Given the description of an element on the screen output the (x, y) to click on. 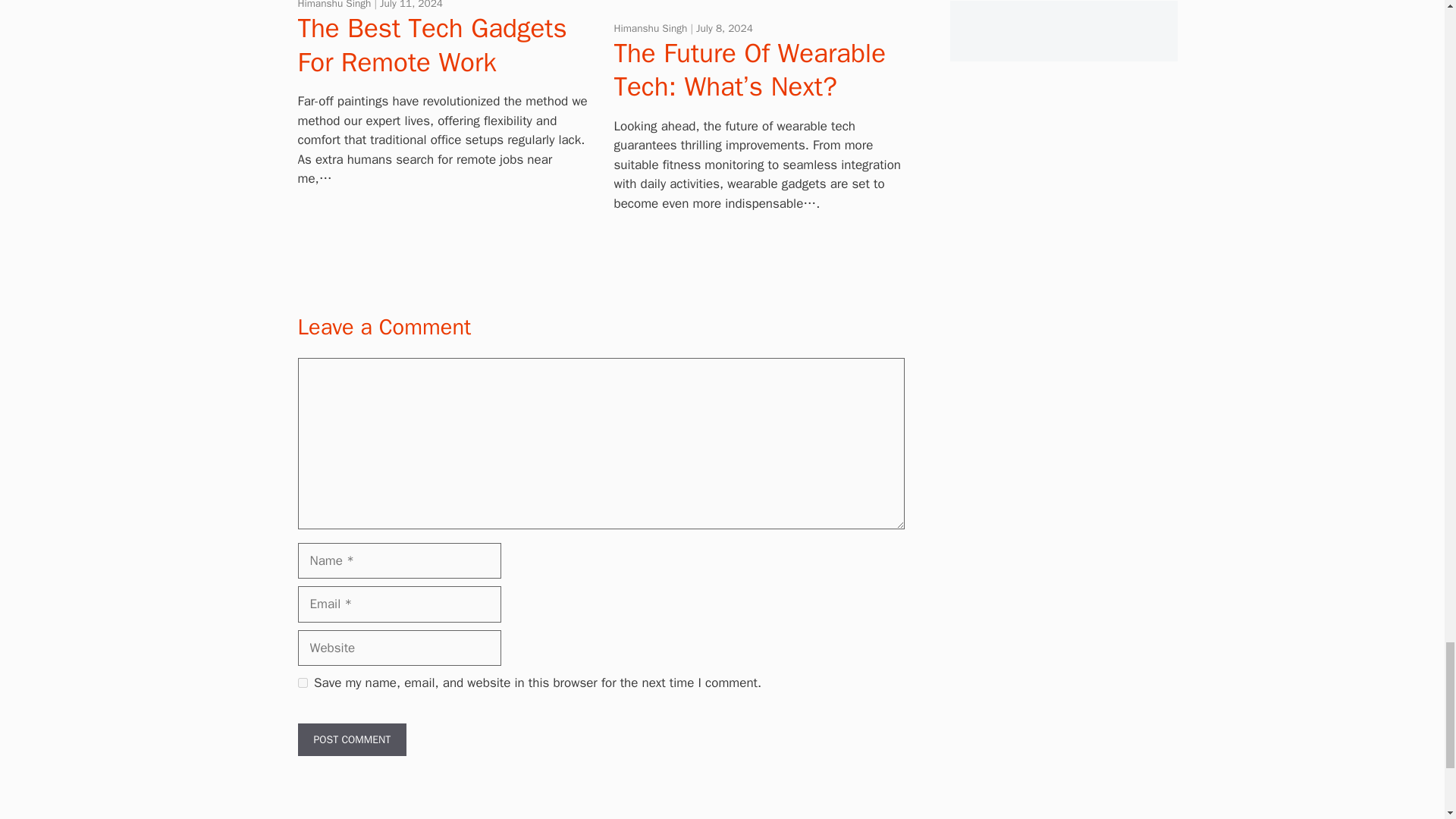
Post Comment (351, 739)
9:47 pm (411, 4)
yes (302, 682)
Himanshu Singh (335, 4)
View all posts by Himanshu Singh (335, 4)
The Best Tech Gadgets For Remote Work (431, 44)
